Given the description of an element on the screen output the (x, y) to click on. 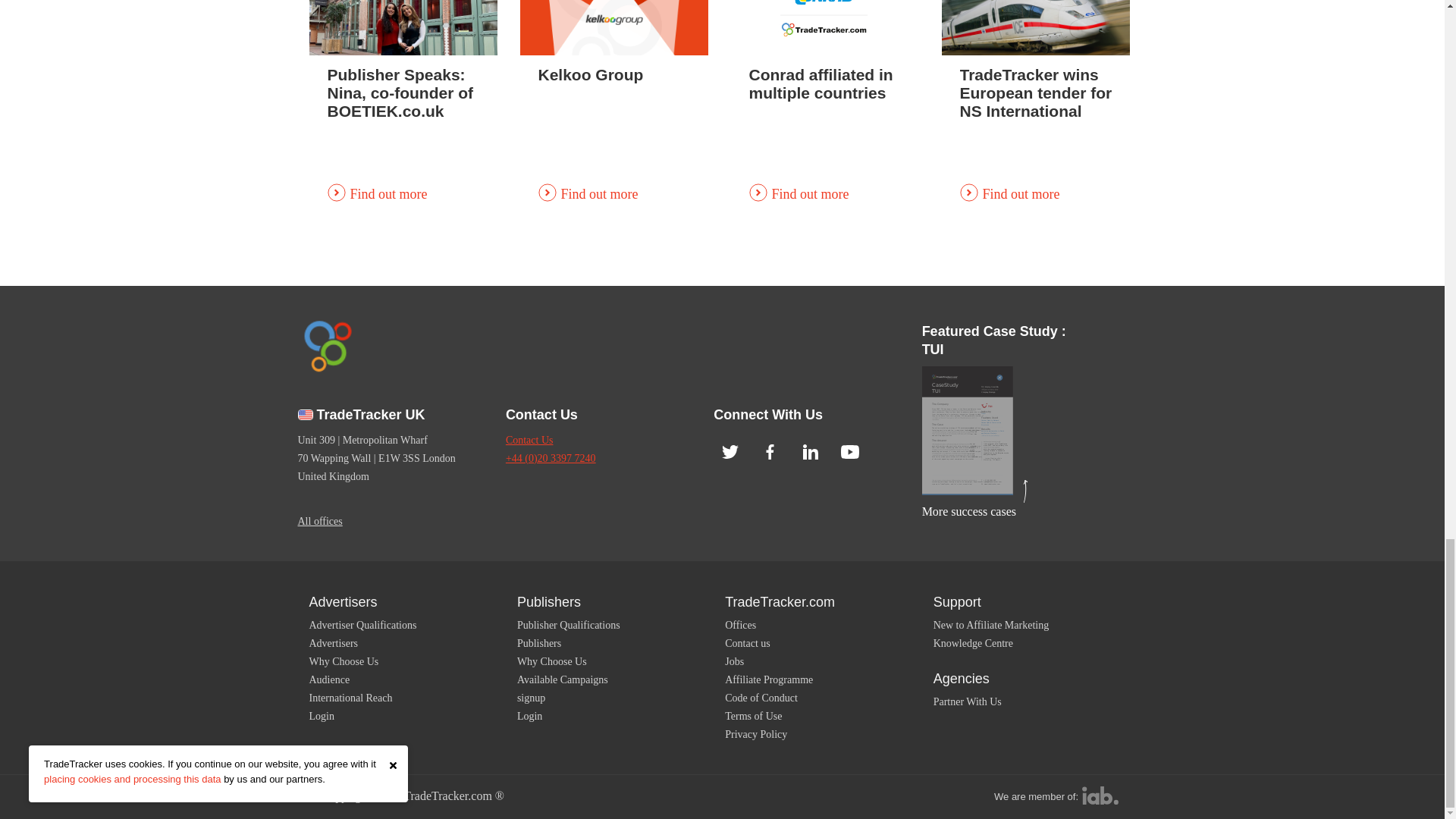
TradeTracker on Twitter (729, 452)
TradeTracker (326, 345)
United States- English (305, 414)
